Given the description of an element on the screen output the (x, y) to click on. 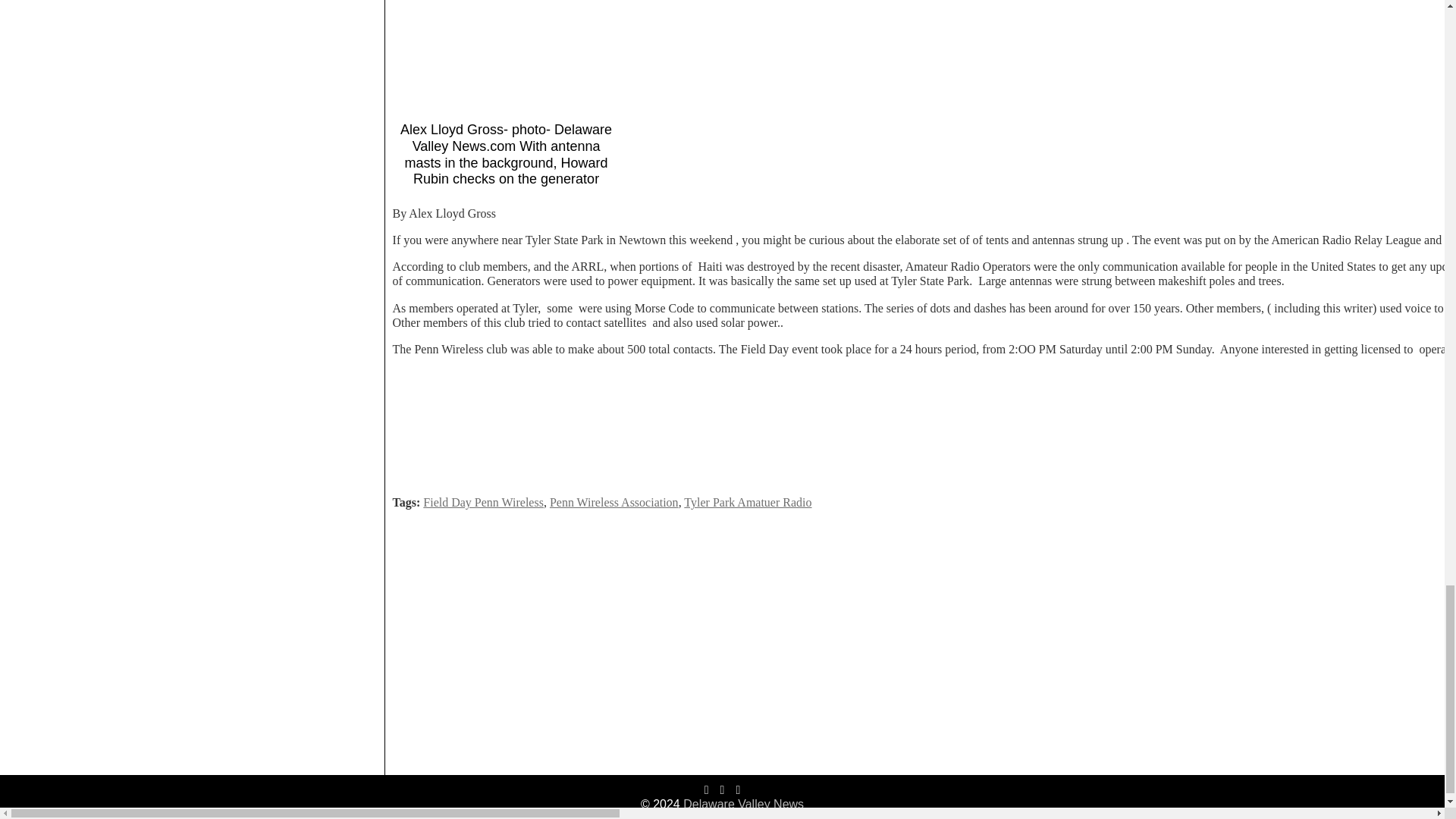
Field Day Penn Wireless (483, 502)
Penn Wireless Association (614, 502)
Tyler Park Amatuer Radio (747, 502)
